Given the description of an element on the screen output the (x, y) to click on. 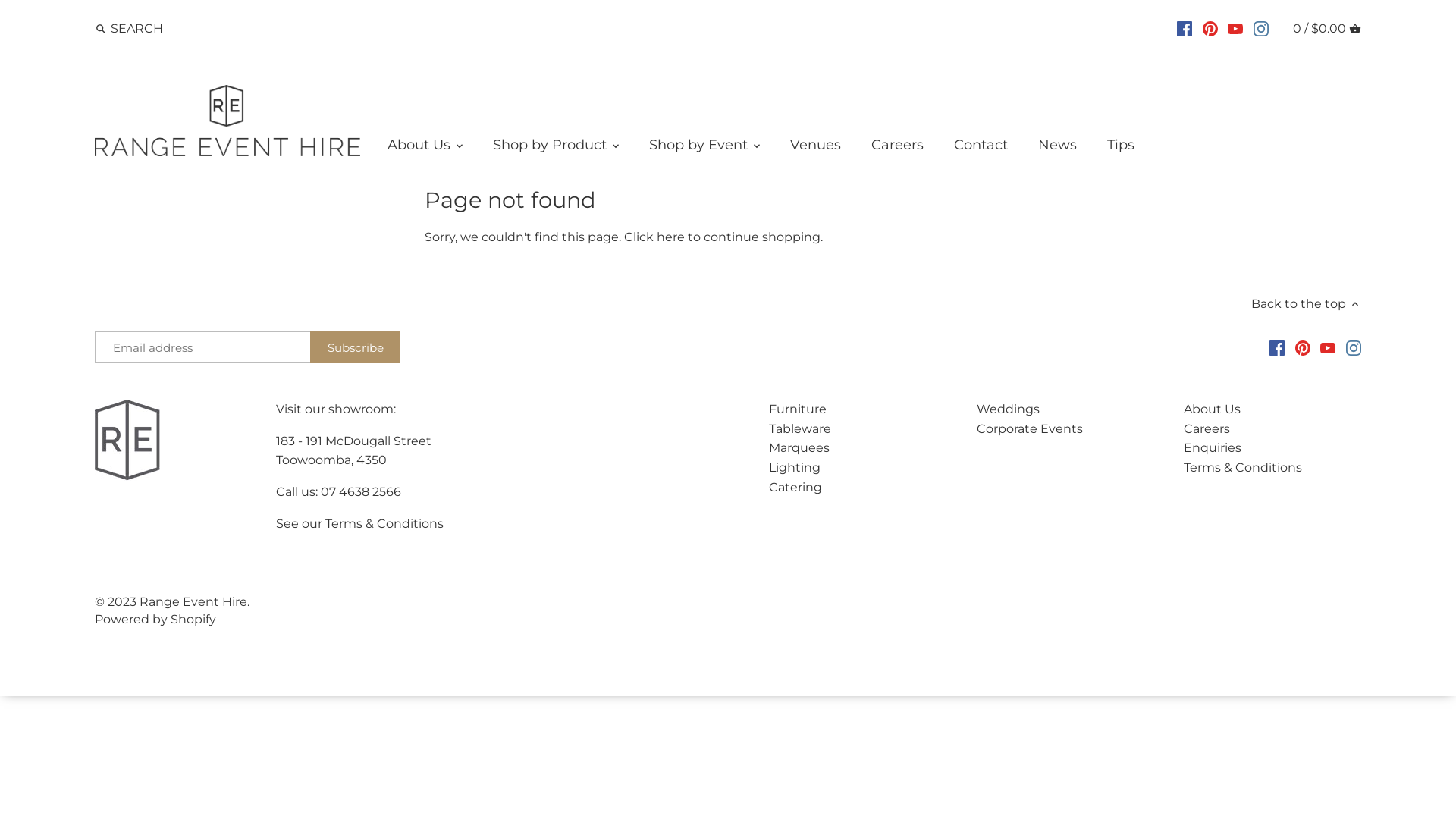
News Element type: text (1057, 148)
Venues Element type: text (815, 148)
INSTAGRAM Element type: text (1260, 27)
Shop by Event Element type: text (698, 148)
Corporate Events Element type: text (1029, 428)
Youtube Element type: text (1327, 346)
Weddings Element type: text (1007, 408)
FACEBOOK Element type: text (1184, 27)
YOUTUBE Element type: text (1234, 27)
Click here Element type: text (654, 236)
Back to the top Element type: text (1306, 303)
Enquiries Element type: text (1212, 447)
Powered by Shopify Element type: text (155, 618)
Facebook Element type: text (1276, 346)
Catering Element type: text (795, 487)
Range Event Hire Element type: text (193, 601)
Search Element type: text (100, 29)
Terms & Conditions Element type: text (1242, 467)
Contact Element type: text (980, 148)
Furniture Element type: text (797, 408)
Careers Element type: text (897, 148)
Lighting Element type: text (794, 467)
Tips Element type: text (1120, 148)
Subscribe Element type: text (355, 347)
Shop by Product Element type: text (549, 148)
07 4638 2566 Element type: text (360, 491)
Instagram Element type: text (1353, 346)
About Us Element type: text (1211, 408)
Tableware Element type: text (799, 428)
About Us Element type: text (425, 148)
Careers Element type: text (1206, 428)
Pinterest Element type: text (1302, 346)
Marquees Element type: text (798, 447)
PINTEREST Element type: text (1209, 27)
Terms & Conditions Element type: text (384, 523)
0 / $0.00 CART Element type: text (1326, 28)
